Given the description of an element on the screen output the (x, y) to click on. 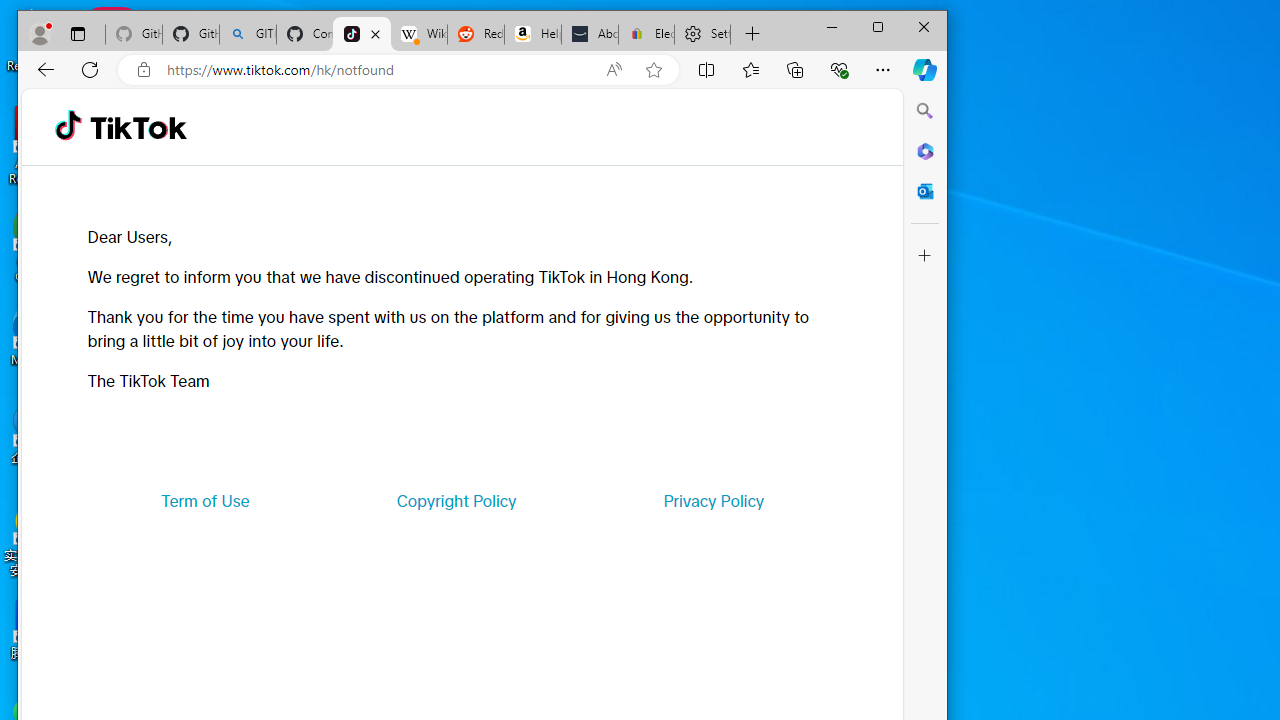
Copyright Policy (456, 500)
Help & Contact Us - Amazon Customer Service (532, 34)
Reddit - Dive into anything (476, 34)
